Given the description of an element on the screen output the (x, y) to click on. 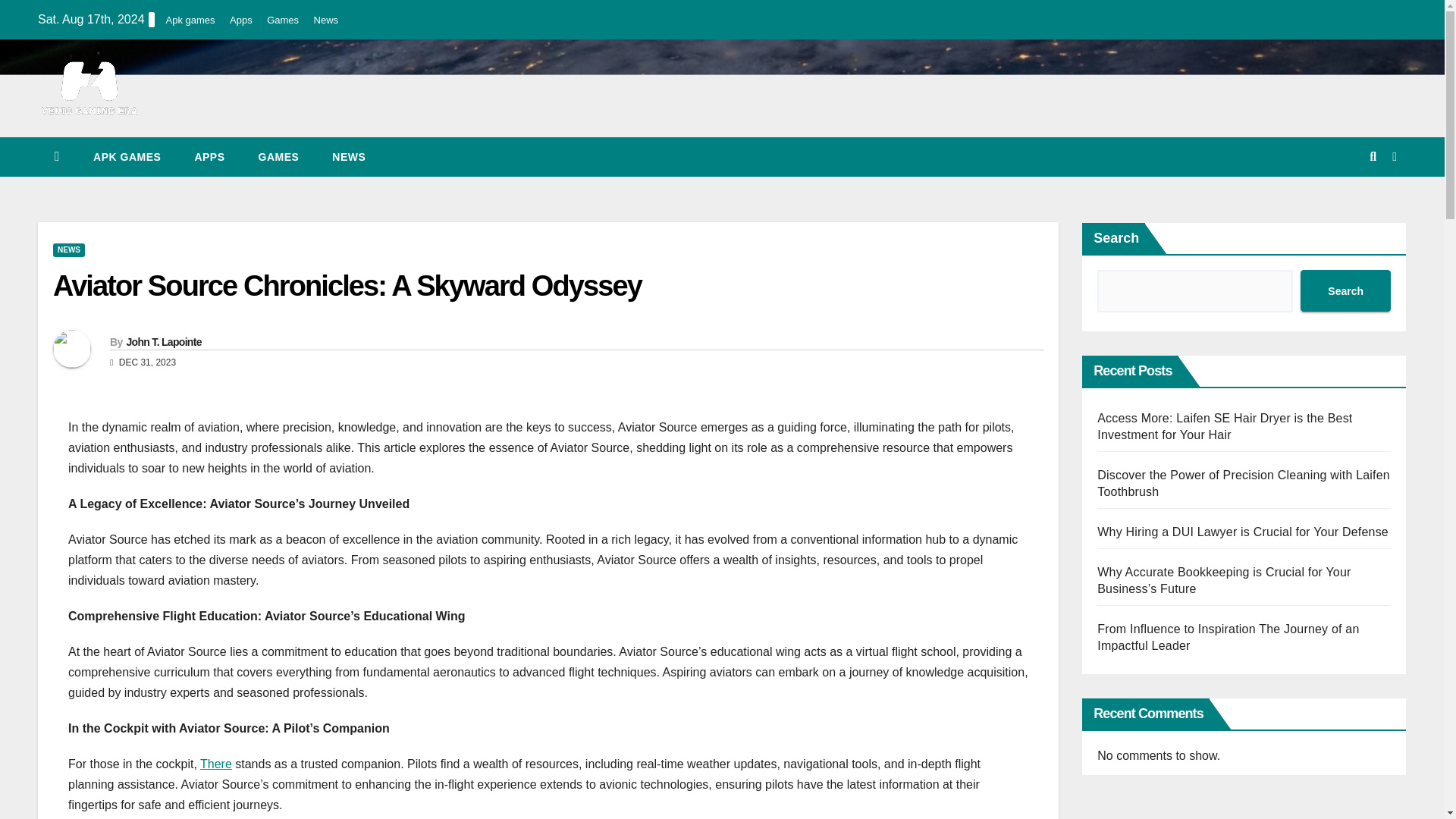
NEWS (348, 156)
NEWS (68, 250)
Aviator Source Chronicles: A Skyward Odyssey (347, 286)
Permalink to: Aviator Source Chronicles: A Skyward Odyssey (347, 286)
News (326, 19)
APK GAMES (127, 156)
Games (282, 19)
APPS (209, 156)
Apk games (190, 19)
GAMES (278, 156)
